Given the description of an element on the screen output the (x, y) to click on. 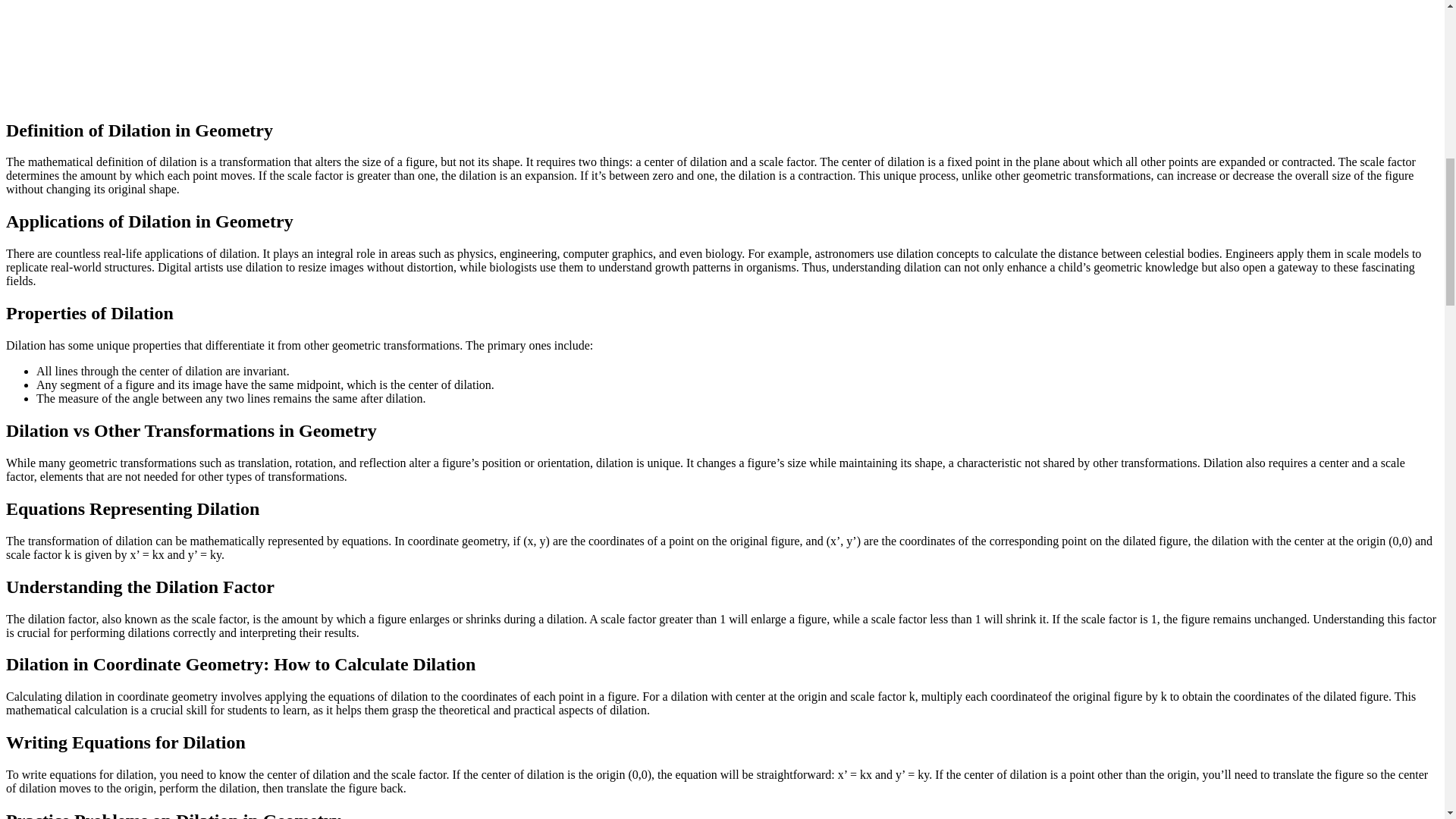
Dilations: Geometry Transformations Explained! (195, 51)
